Given the description of an element on the screen output the (x, y) to click on. 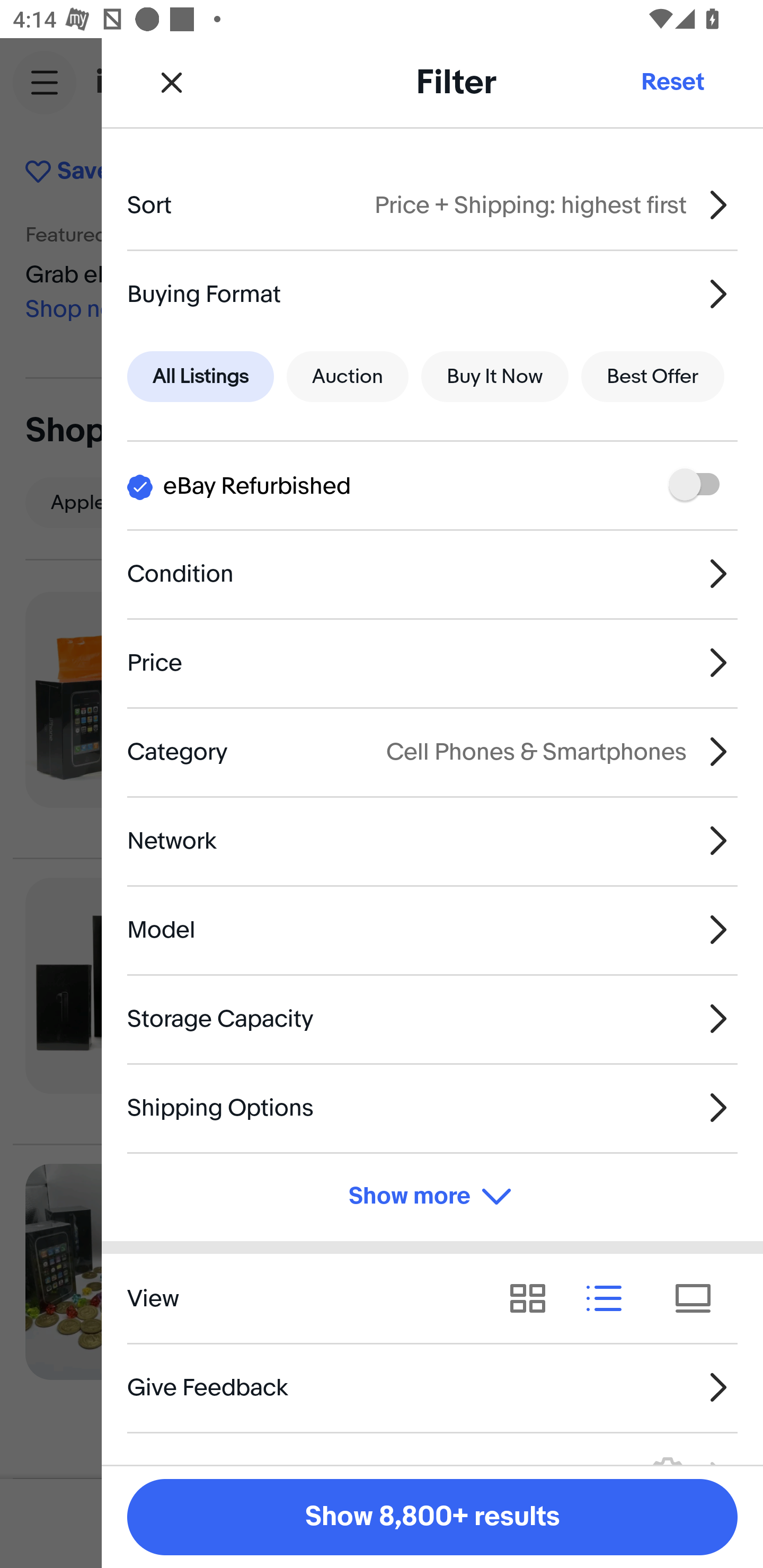
Close Filter (171, 81)
Reset (672, 81)
Buying Format (432, 293)
All Listings (200, 376)
Auction (347, 376)
Buy It Now (494, 376)
Best Offer (652, 376)
I  eBay Refurbished eBay Refurbished (432, 484)
Condition (432, 573)
Price (432, 662)
Category Cell Phones & Smartphones (432, 751)
Network (432, 840)
Model (432, 929)
Storage Capacity (432, 1018)
Shipping Options (432, 1107)
Show more (432, 1196)
View results as grid (533, 1297)
View results as list (610, 1297)
View results as tiles (699, 1297)
Show 8,800+ results (432, 1516)
